Given the description of an element on the screen output the (x, y) to click on. 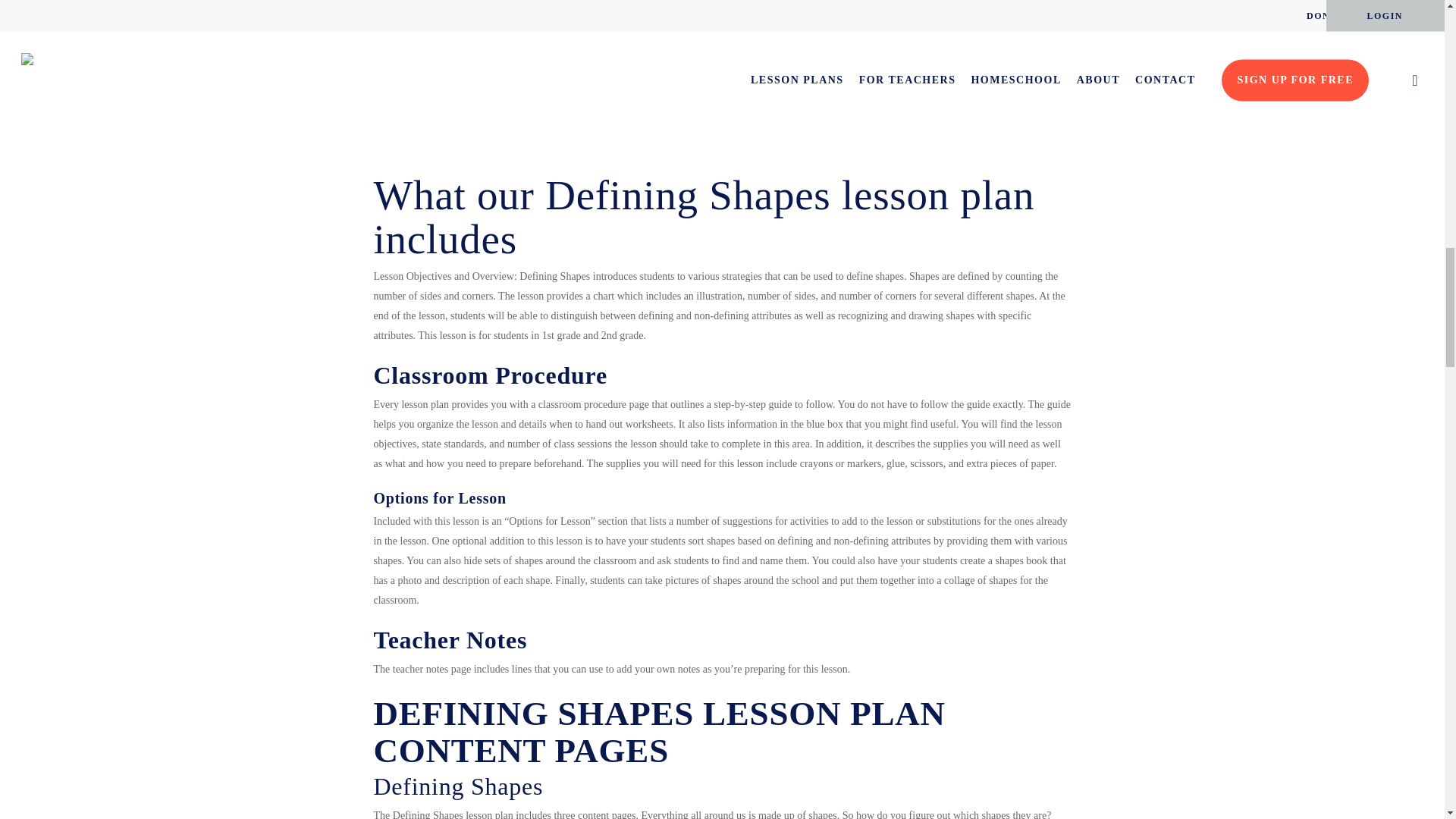
Additional information (729, 103)
Description (606, 103)
Reviews (844, 103)
